Given the description of an element on the screen output the (x, y) to click on. 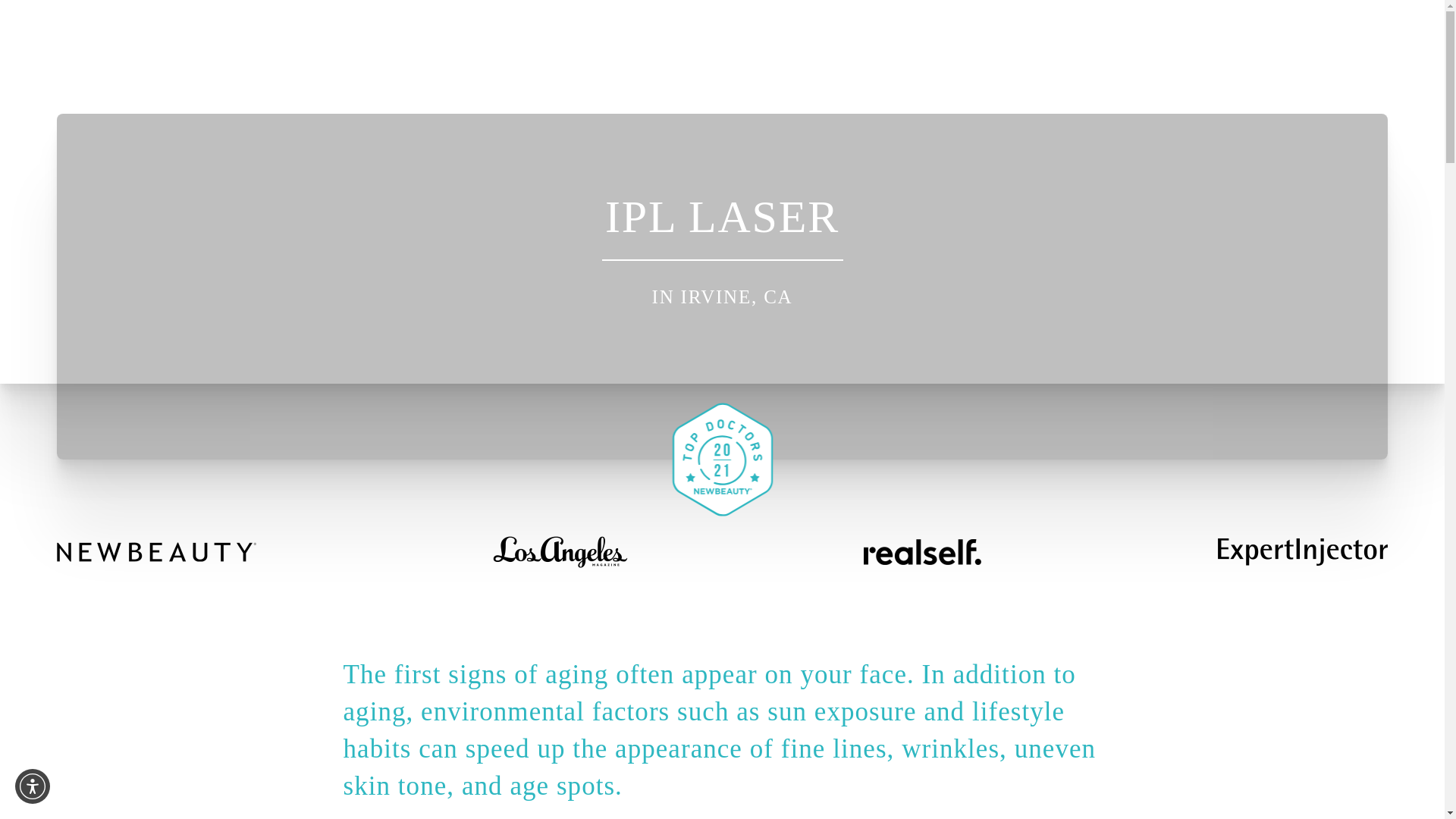
SCHEDULE CONSULTATION (154, 56)
